Given the description of an element on the screen output the (x, y) to click on. 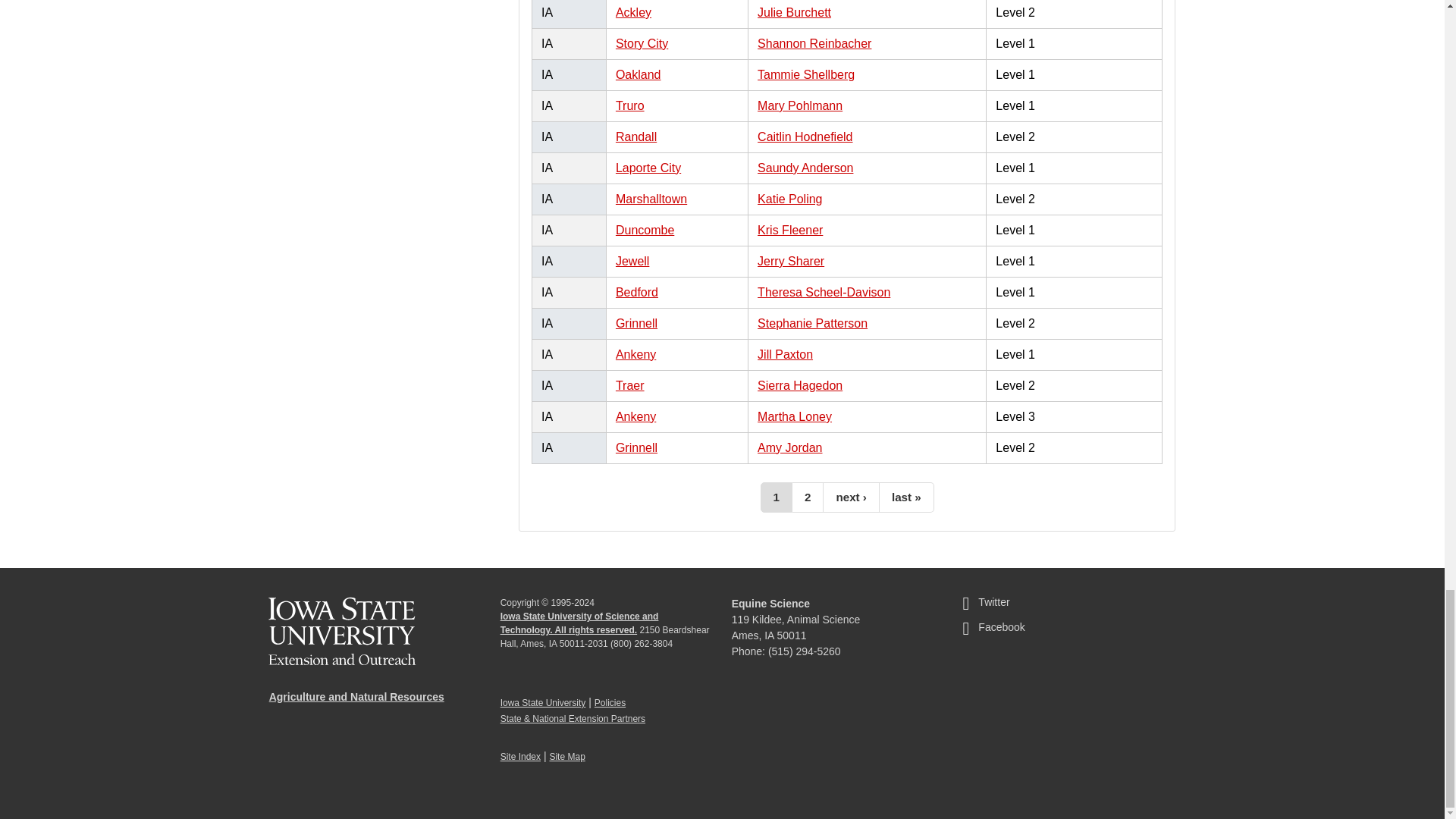
Go to next page (851, 497)
Go to page 2 (808, 497)
Go to last page (906, 497)
